Given the description of an element on the screen output the (x, y) to click on. 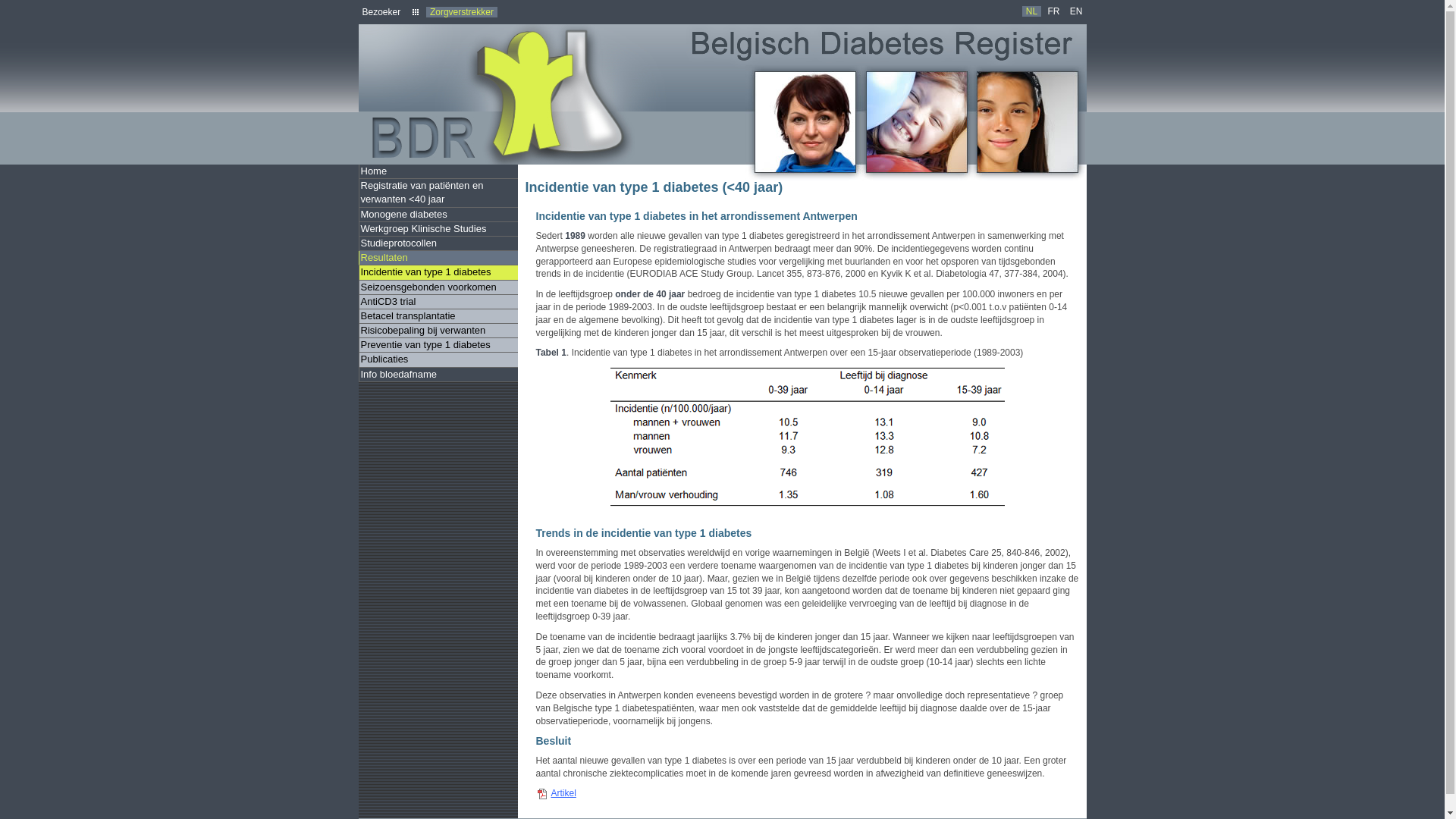
Home Element type: text (437, 171)
Bezoeker Element type: text (380, 11)
Studieprotocollen Element type: text (437, 243)
NL Element type: text (1031, 11)
EN Element type: text (1076, 11)
Resultaten Element type: text (437, 258)
Werkgroep Klinische Studies Element type: text (437, 229)
AntiCD3 trial Element type: text (437, 301)
Betacel transplantatie Element type: text (437, 316)
FR Element type: text (1053, 11)
Info bloedafname Element type: text (437, 374)
Preventie van type 1 diabetes Element type: text (437, 345)
Zorgverstrekker Element type: text (461, 11)
Monogene diabetes Element type: text (437, 214)
Incidentie van type 1 diabetes Element type: text (437, 272)
Publicaties Element type: text (437, 359)
Risicobepaling bij verwanten Element type: text (437, 330)
Seizoensgebonden voorkomen Element type: text (437, 287)
Artikel Element type: text (599, 795)
